Given the description of an element on the screen output the (x, y) to click on. 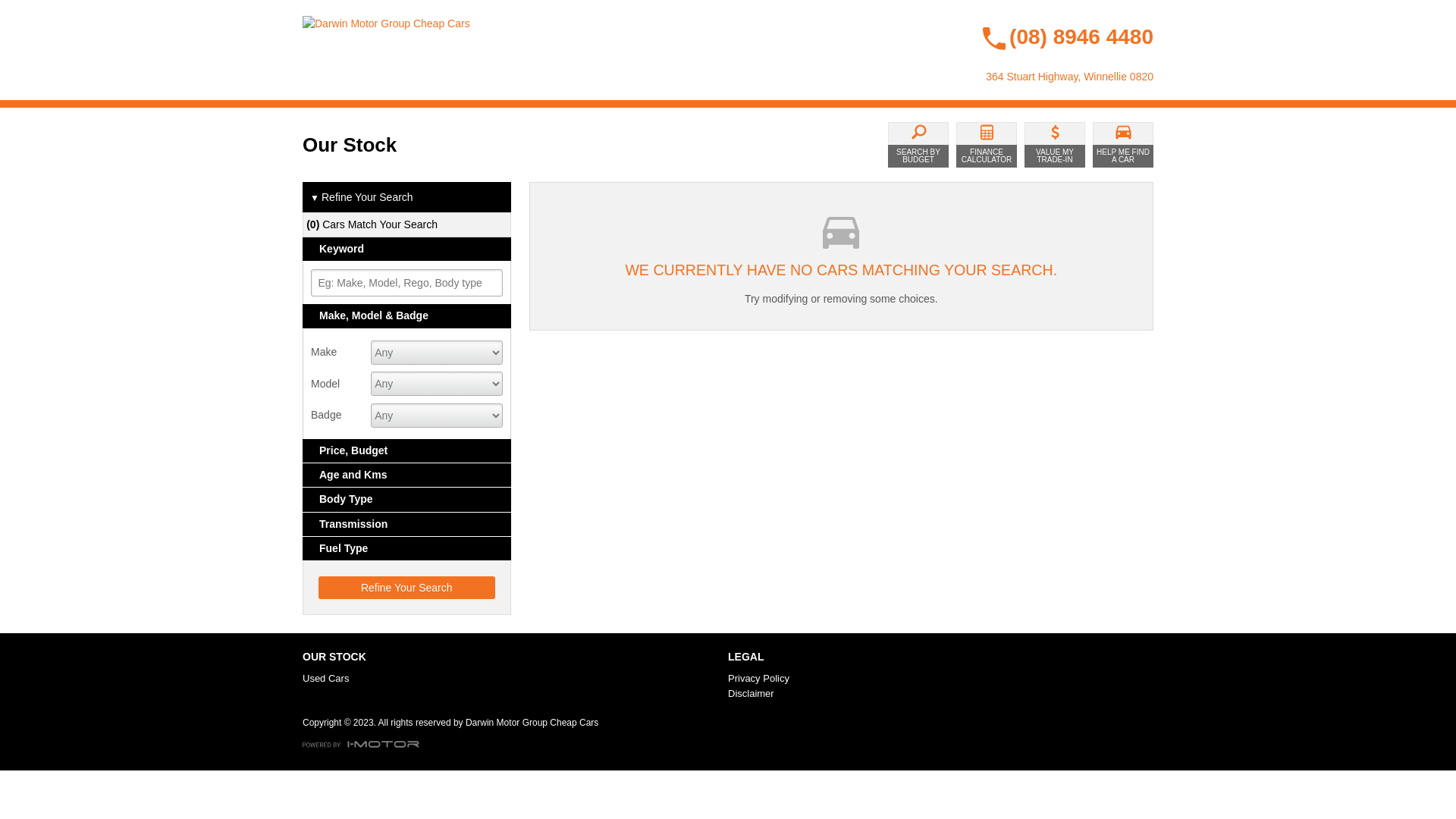
SEARCH BY BUDGET Element type: text (918, 144)
VALUE MY TRADE-IN Element type: text (1054, 144)
FINANCE CALCULATOR Element type: text (986, 144)
Privacy Policy Element type: text (937, 678)
Make, Model & Badge Element type: text (406, 315)
Refine Your Search Element type: text (406, 587)
Fuel Type Element type: text (406, 548)
Price, Budget Element type: text (406, 450)
Keyword Element type: text (406, 248)
Transmission Element type: text (406, 524)
Disclaimer Element type: text (937, 693)
Age and Kms Element type: text (406, 474)
Body Type Element type: text (406, 499)
(08) 8946 4480 Element type: text (1051, 32)
HELP ME FIND A CAR Element type: text (1122, 144)
Used Cars Element type: text (511, 678)
